Given the description of an element on the screen output the (x, y) to click on. 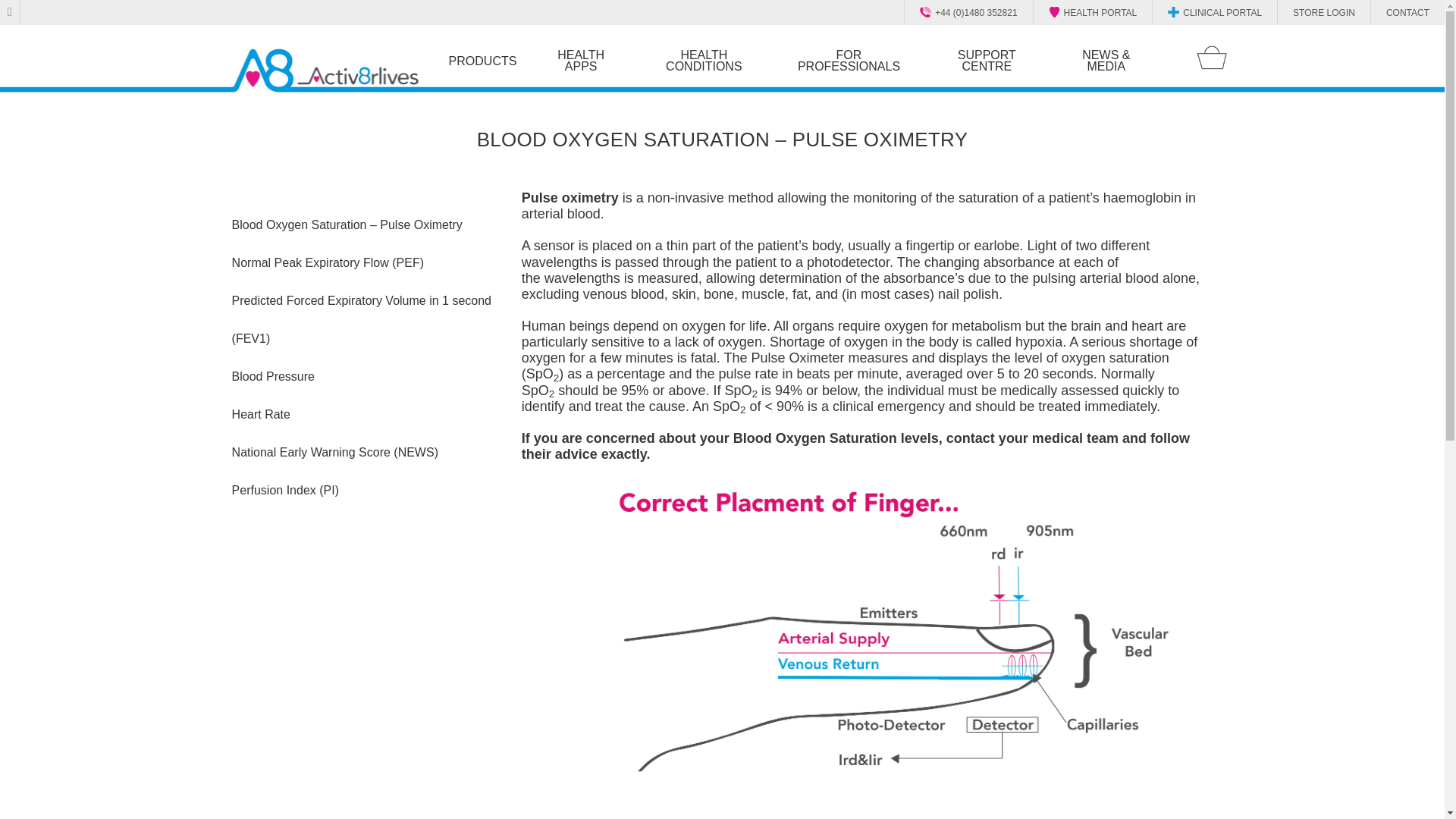
CONTACT (1401, 11)
FOR PROFESSIONALS (848, 60)
Health Apps (580, 60)
CLINICAL PORTAL (1216, 11)
Products (483, 59)
My Cart (1211, 57)
For Professionals (848, 60)
Blood Pressure (363, 376)
Heart Rate (363, 414)
PRODUCTS (483, 59)
Support Centre (986, 60)
Health Conditions (703, 60)
HEALTH APPS (580, 60)
SUPPORT CENTRE (986, 60)
HEALTH PORTAL (1094, 11)
